Given the description of an element on the screen output the (x, y) to click on. 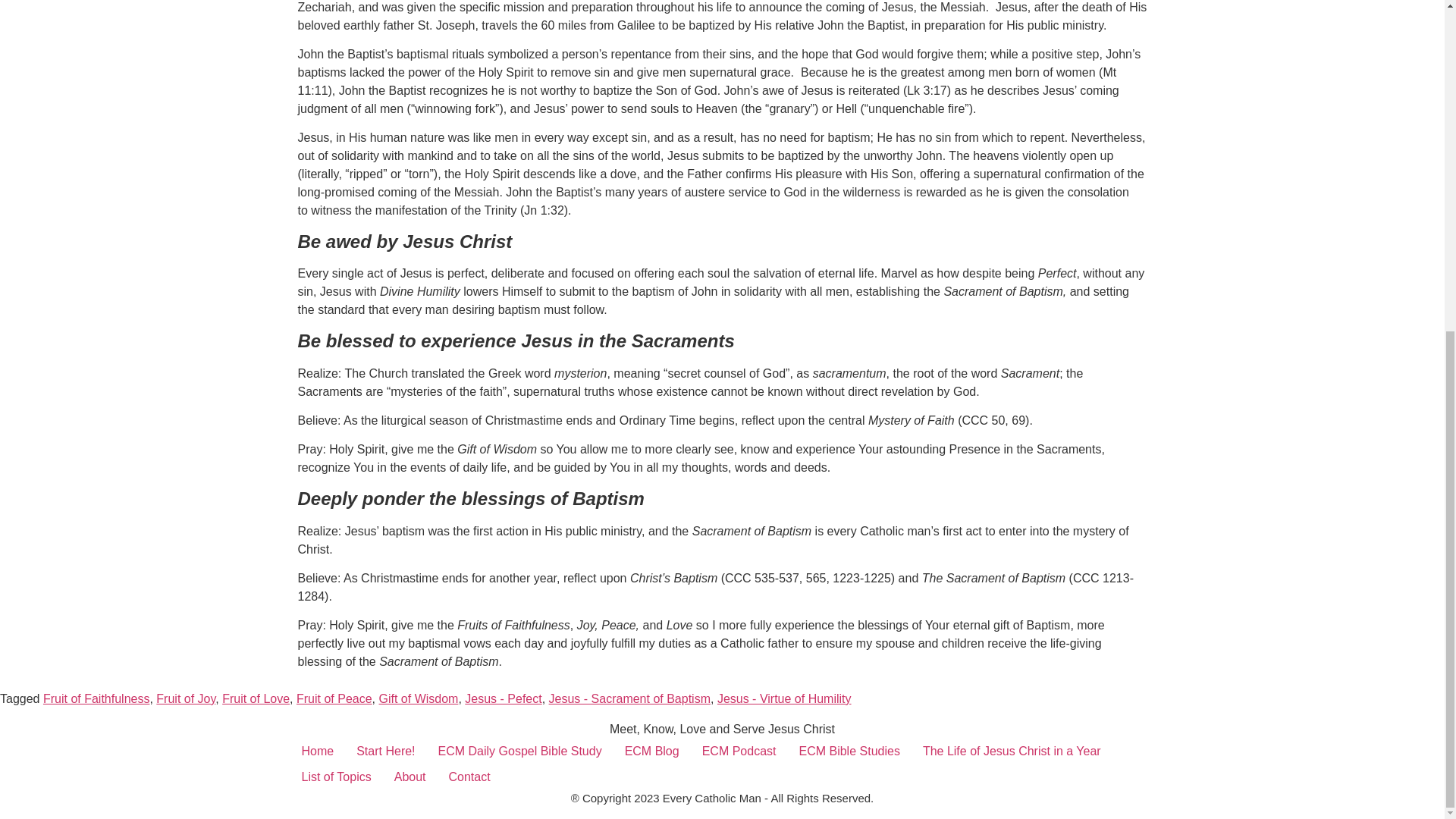
List of Topics (335, 777)
Gift of Wisdom (418, 698)
Fruit of Joy (185, 698)
ECM Blog (651, 751)
Start Here! (385, 751)
Fruit of Faithfulness (96, 698)
Jesus - Virtue of Humility (784, 698)
Fruit of Peace (334, 698)
Jesus - Pefect (502, 698)
Fruit of Love (255, 698)
ECM Podcast (738, 751)
Jesus - Sacrament of Baptism (629, 698)
The Life of Jesus Christ in a Year (1011, 751)
ECM Bible Studies (849, 751)
Home (317, 751)
